Given the description of an element on the screen output the (x, y) to click on. 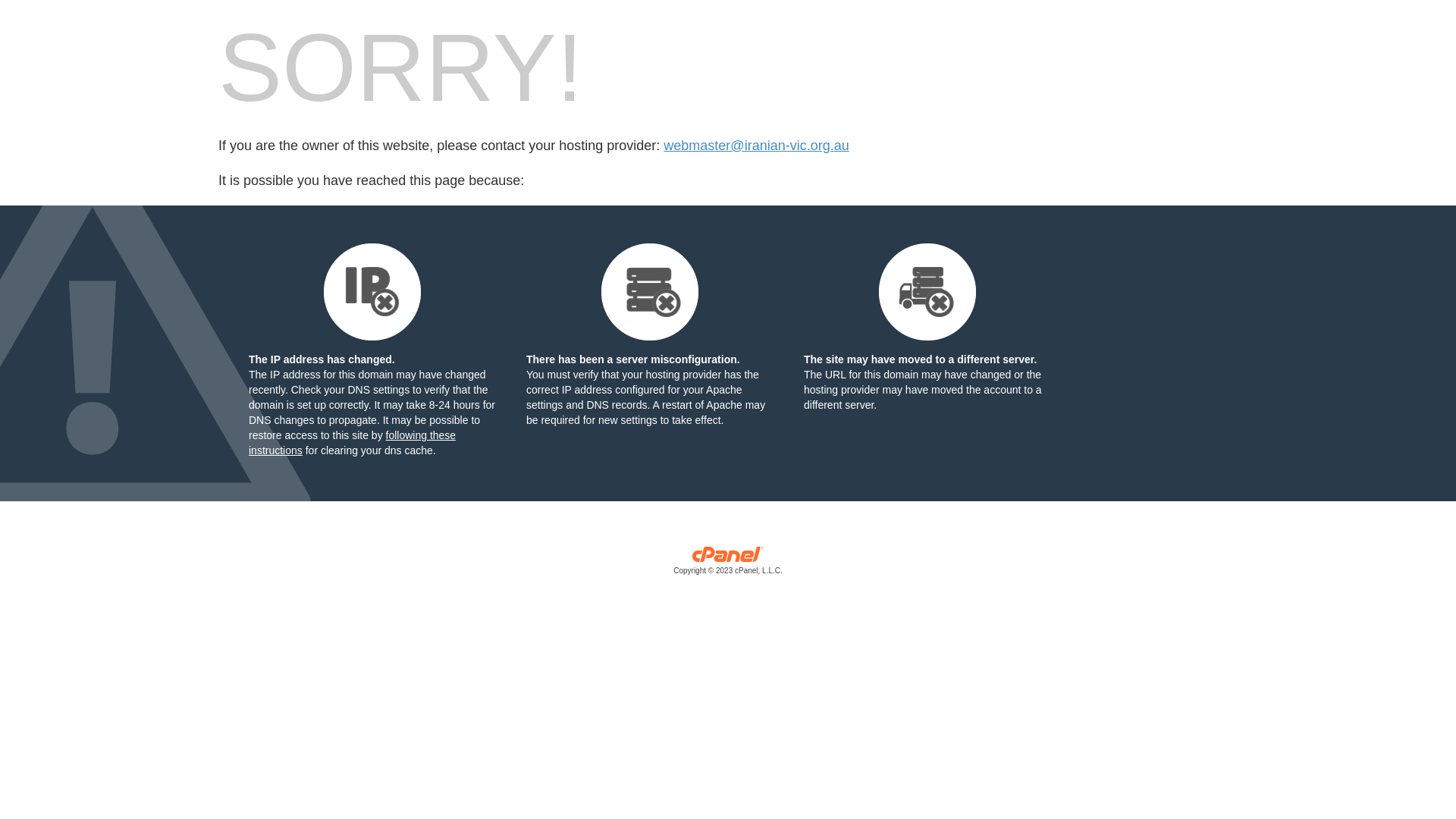
webmaster@iranian-vic.org.au Element type: text (755, 145)
following these instructions Element type: text (351, 442)
